Given the description of an element on the screen output the (x, y) to click on. 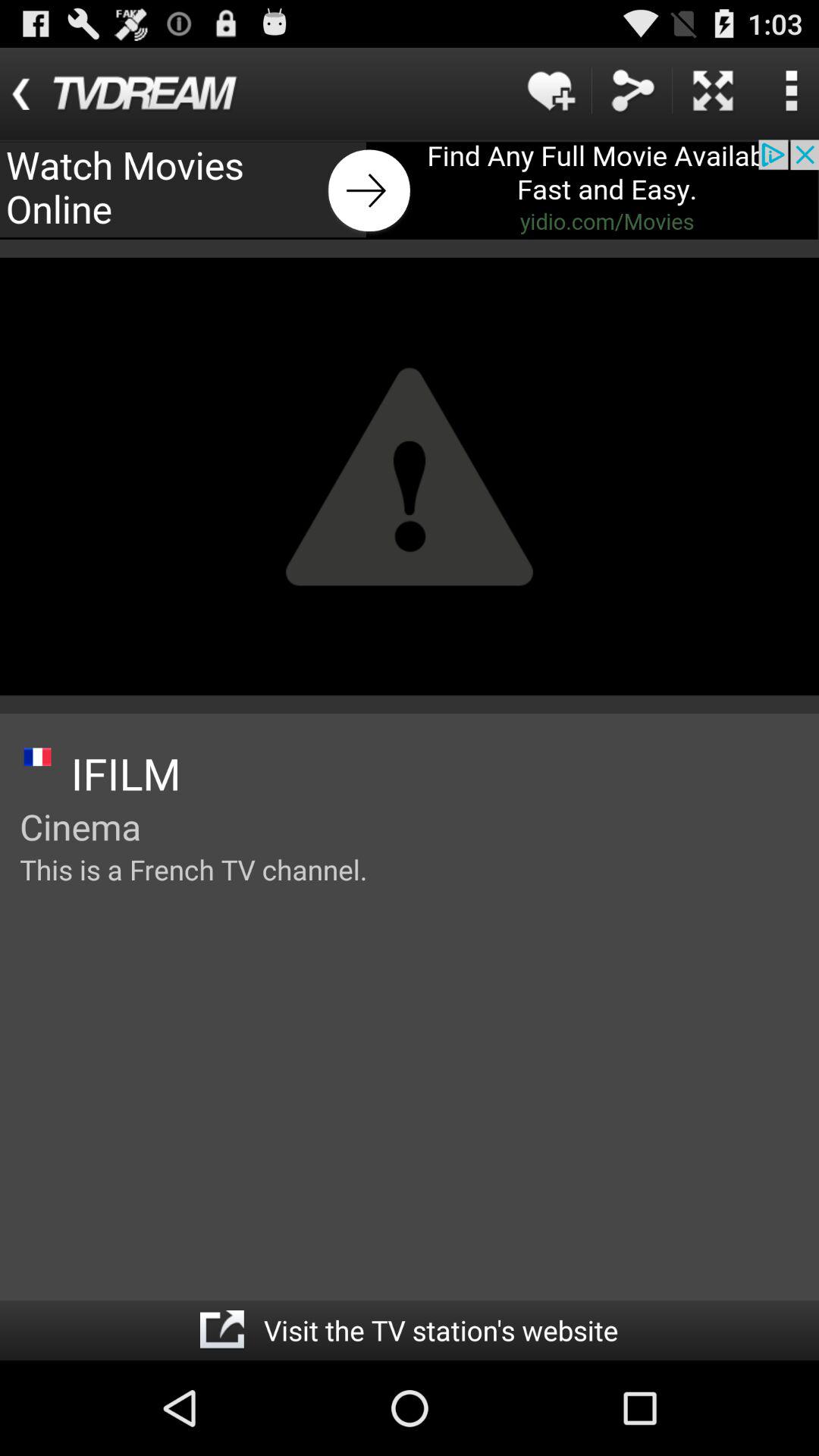
search (791, 90)
